Given the description of an element on the screen output the (x, y) to click on. 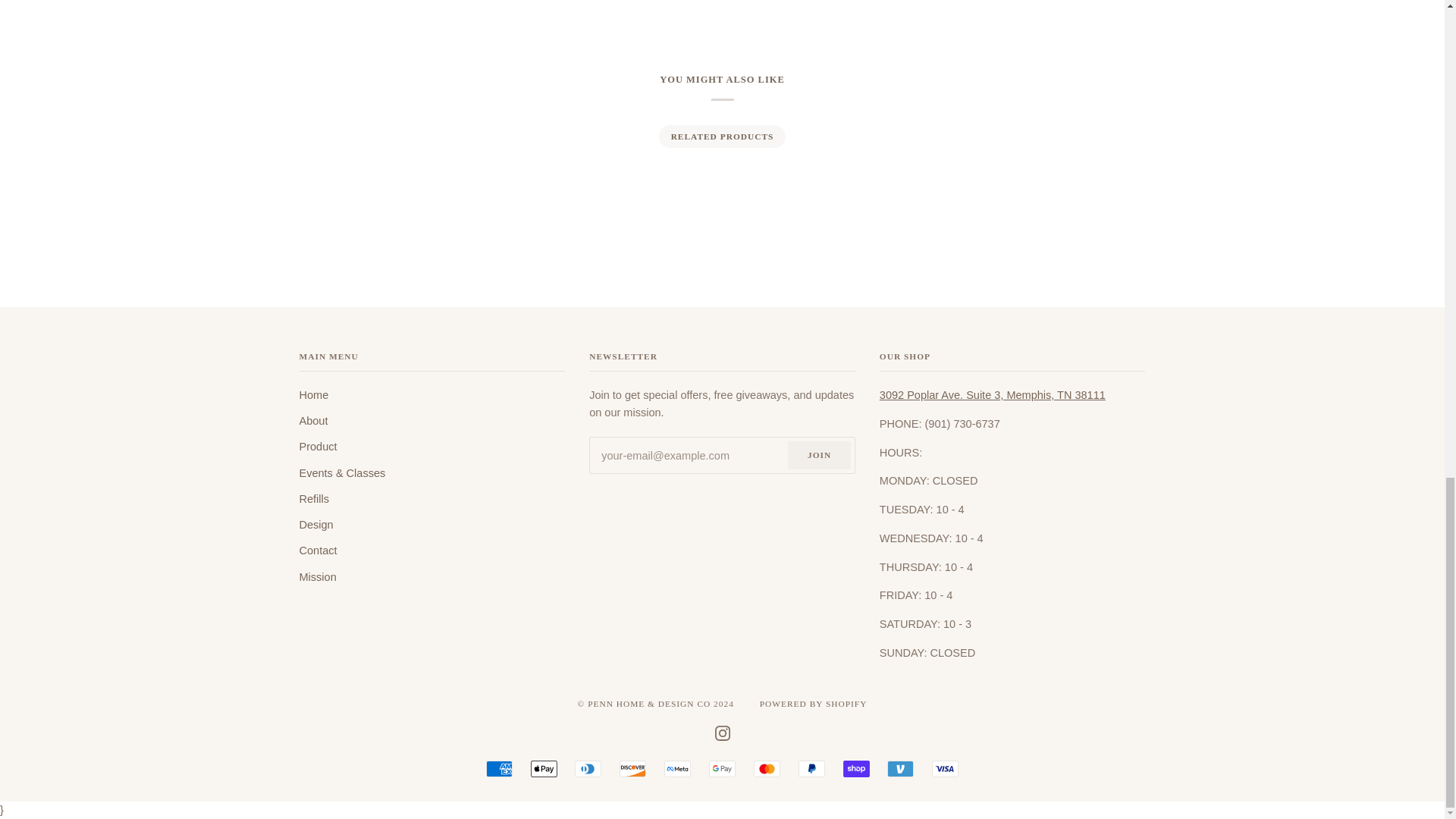
VISA (944, 768)
VENMO (900, 768)
MASTERCARD (767, 768)
SHOP PAY (856, 768)
PAYPAL (811, 768)
GOOGLE PAY (722, 768)
Instagram (721, 733)
APPLE PAY (544, 768)
DISCOVER (633, 768)
RELATED PRODUCTS (721, 136)
